Given the description of an element on the screen output the (x, y) to click on. 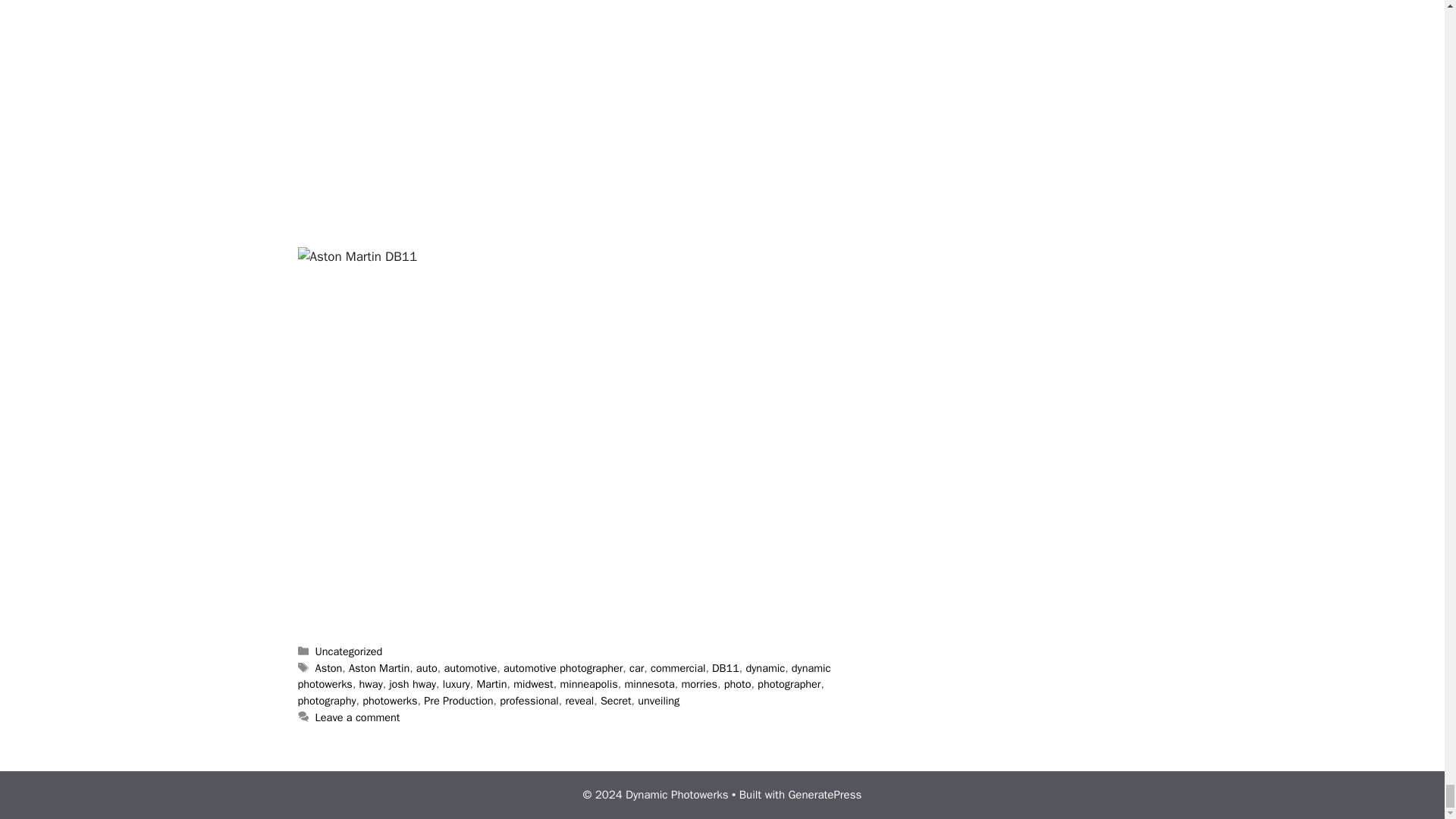
Secret (615, 700)
reveal (579, 700)
Aston Martin (379, 667)
Pre Production (458, 700)
minneapolis (588, 684)
photography (326, 700)
DB11 (725, 667)
minnesota (649, 684)
josh hway (411, 684)
professional (529, 700)
